Given the description of an element on the screen output the (x, y) to click on. 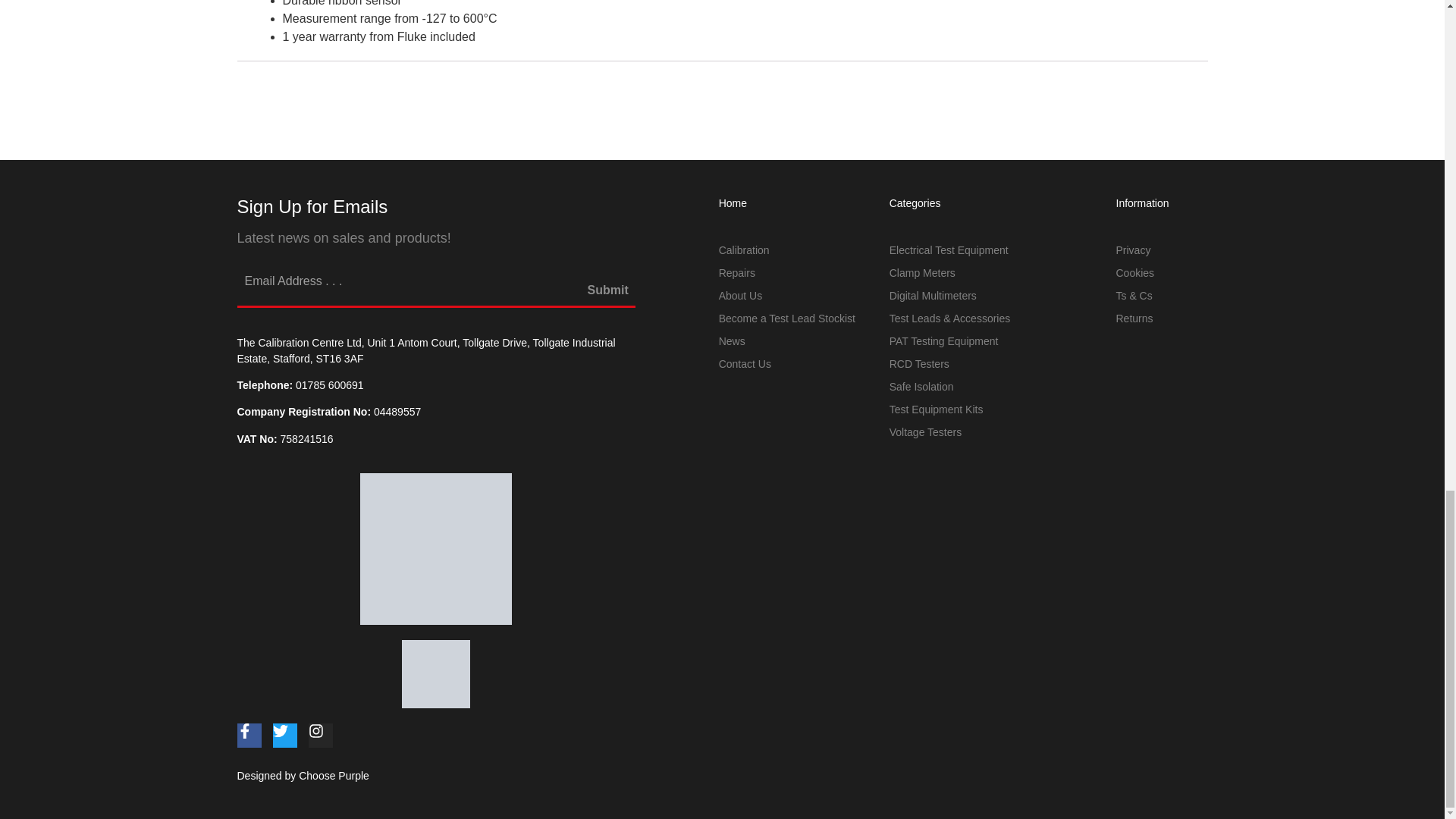
Submit (608, 298)
